Given the description of an element on the screen output the (x, y) to click on. 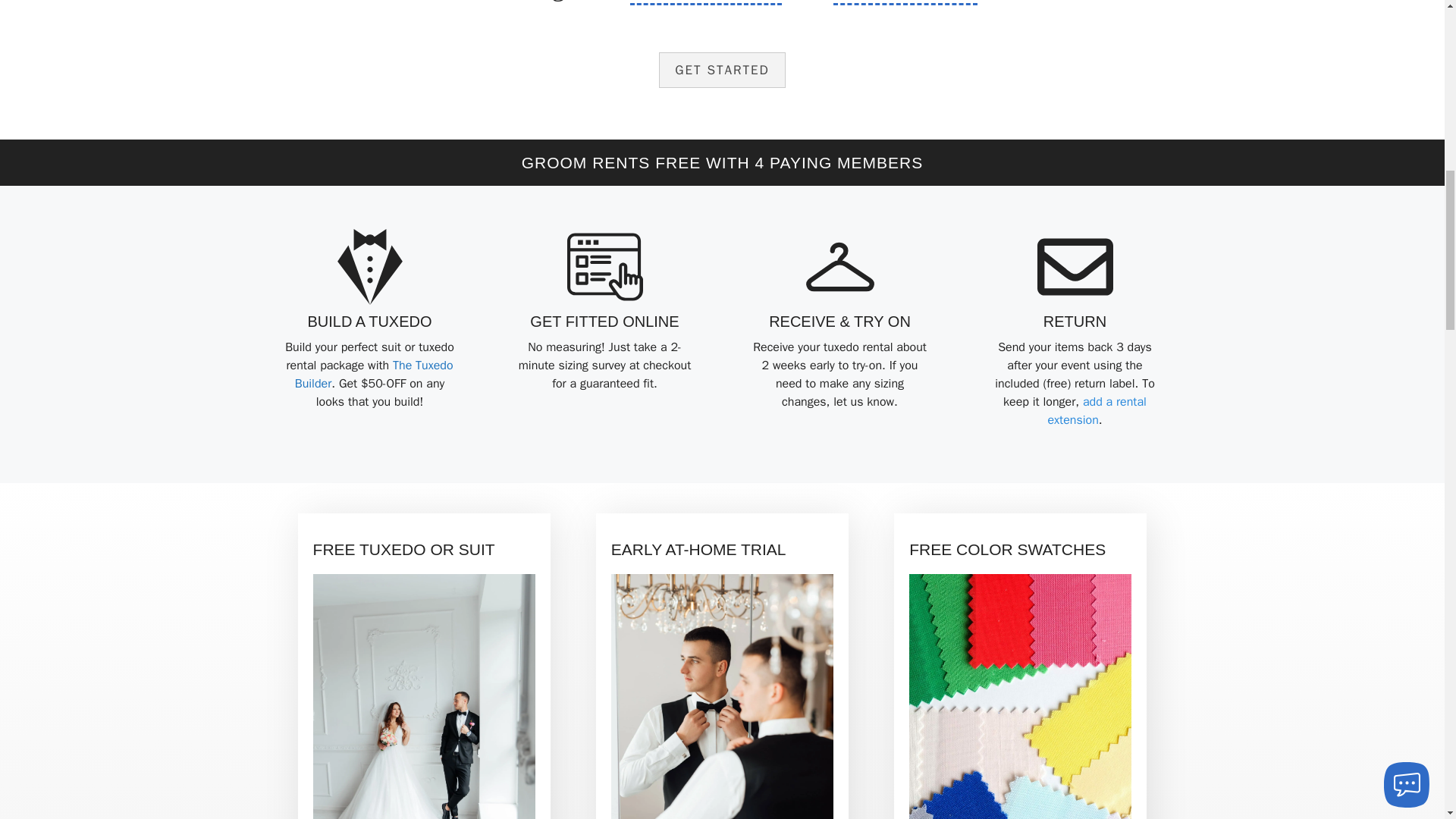
TheFirstMeetingOfTheGroomInABlackSuit (424, 696)
tryon (721, 696)
Get Fitted Online (603, 321)
GROOM RENTS FREE With 4 Paying members (722, 162)
The Tuxedo Builder (373, 374)
Build A Tuxedo (368, 321)
add a rental extension (1096, 410)
SetOfFabricSwatchSamplesTexture (1019, 696)
